Given the description of an element on the screen output the (x, y) to click on. 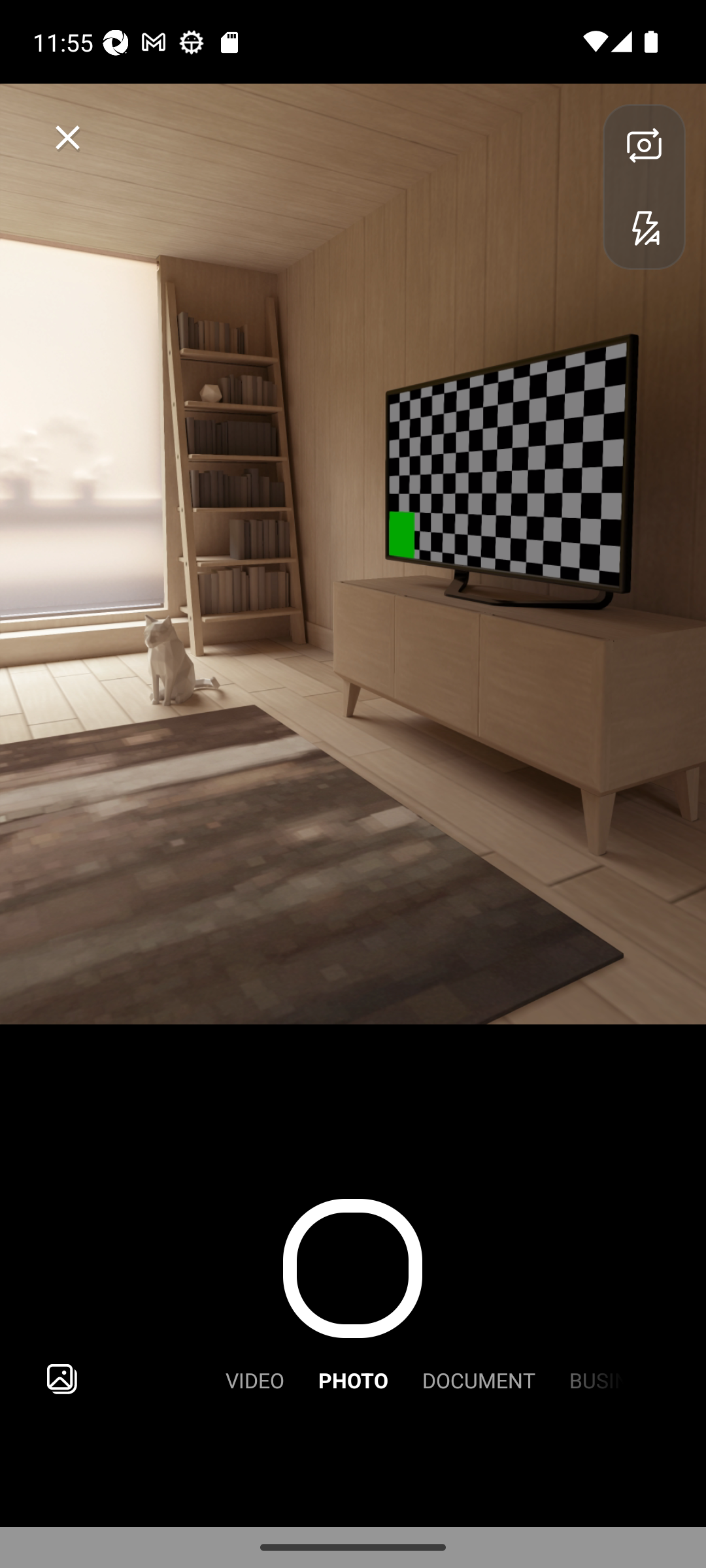
Close (67, 137)
Flip Camera (643, 144)
Flash Auto (643, 227)
Capture (352, 1268)
Import (62, 1378)
VIDEO (254, 1379)
PHOTO (352, 1379)
DOCUMENT (478, 1379)
BUSINESS CARD (589, 1379)
